Given the description of an element on the screen output the (x, y) to click on. 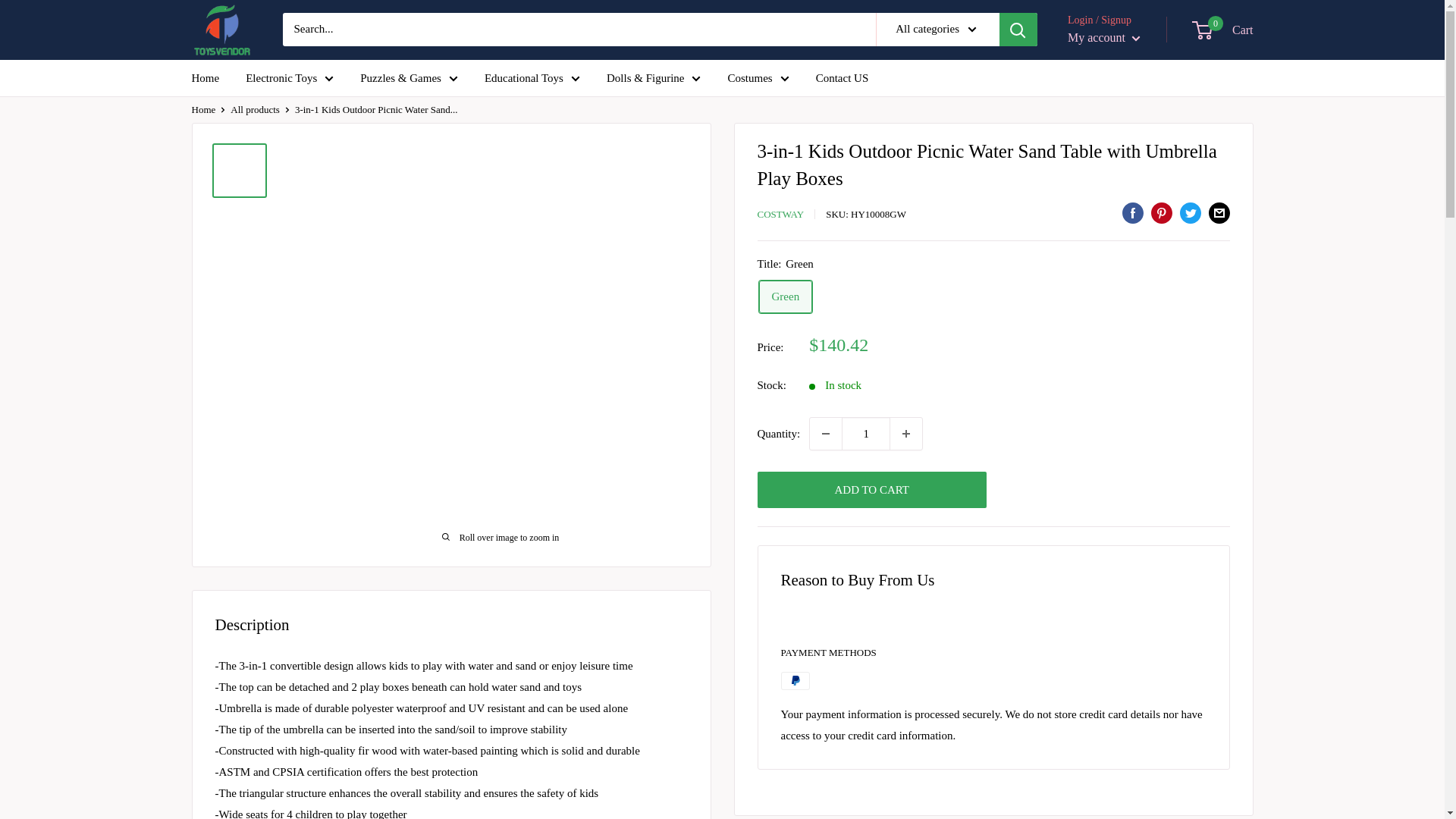
Green (785, 296)
1 (865, 433)
Increase quantity by 1 (905, 433)
Decrease quantity by 1 (825, 433)
